Given the description of an element on the screen output the (x, y) to click on. 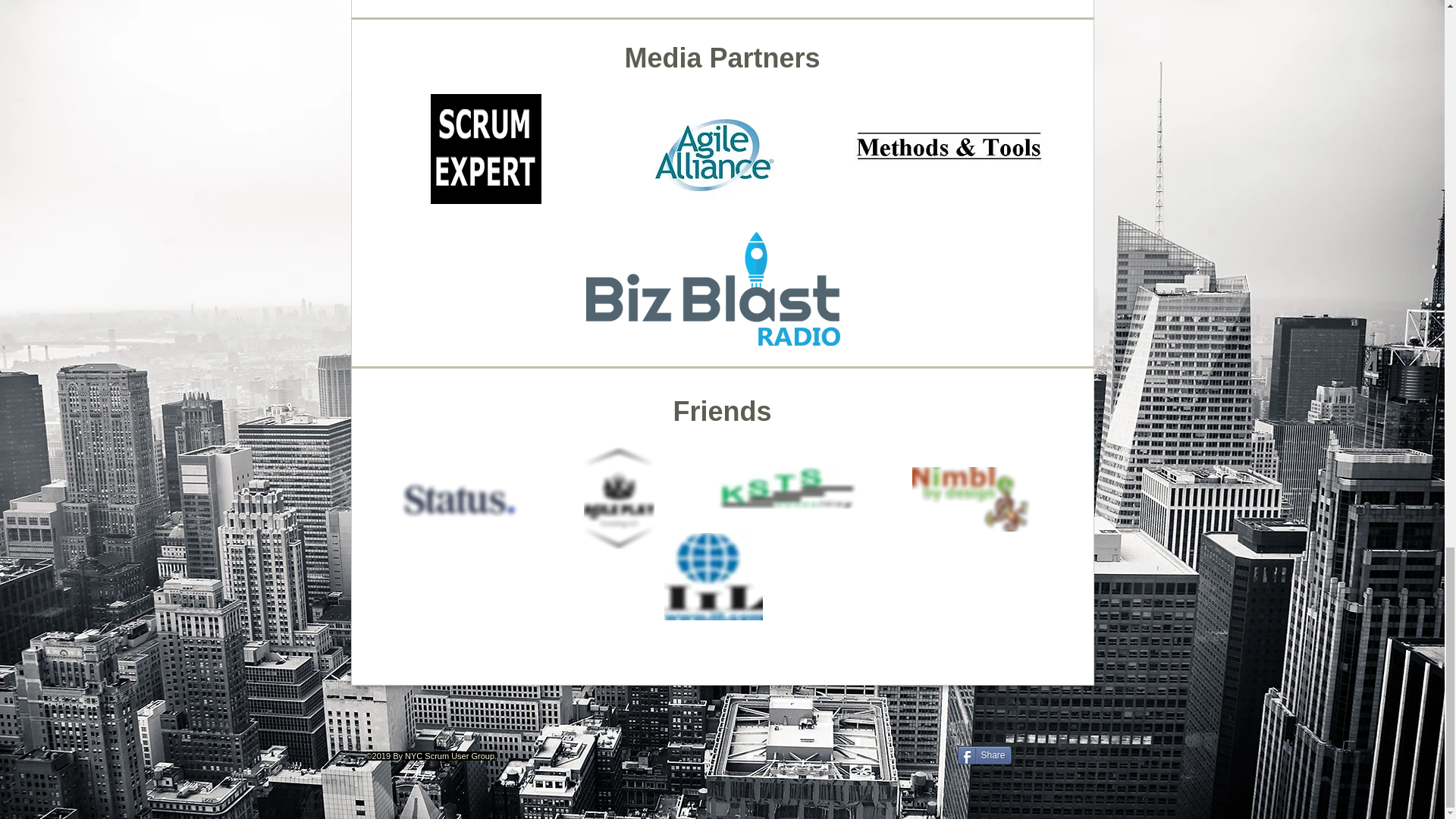
Twitter Tweet (1045, 754)
Share (983, 755)
Share (983, 755)
